Given the description of an element on the screen output the (x, y) to click on. 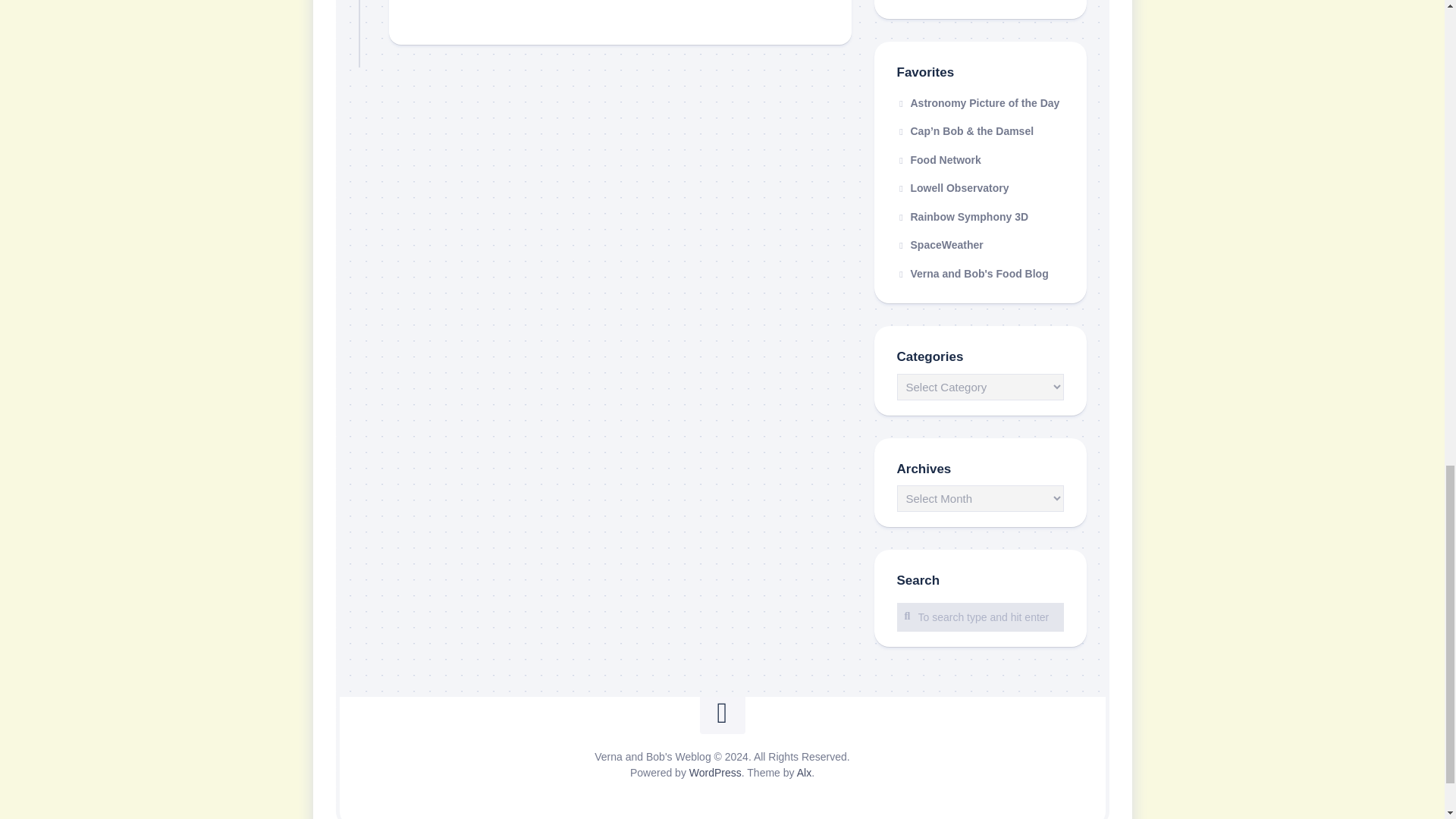
Food Network (937, 159)
Friends of Lowell (952, 187)
Food Network (937, 159)
Classy Cuisine (972, 273)
Astronomy Picture of the Day (977, 102)
Free 3D Glasses (961, 216)
Anniversary Gemstone List (979, 2)
Astronomy Picture of the Day (977, 102)
SpaceWeather (939, 244)
Verna and Bob's Food Blog (972, 273)
Lowell Observatory (952, 187)
To search type and hit enter (979, 616)
News about Space (939, 244)
Rainbow Symphony 3D (961, 216)
To search type and hit enter (979, 616)
